Given the description of an element on the screen output the (x, y) to click on. 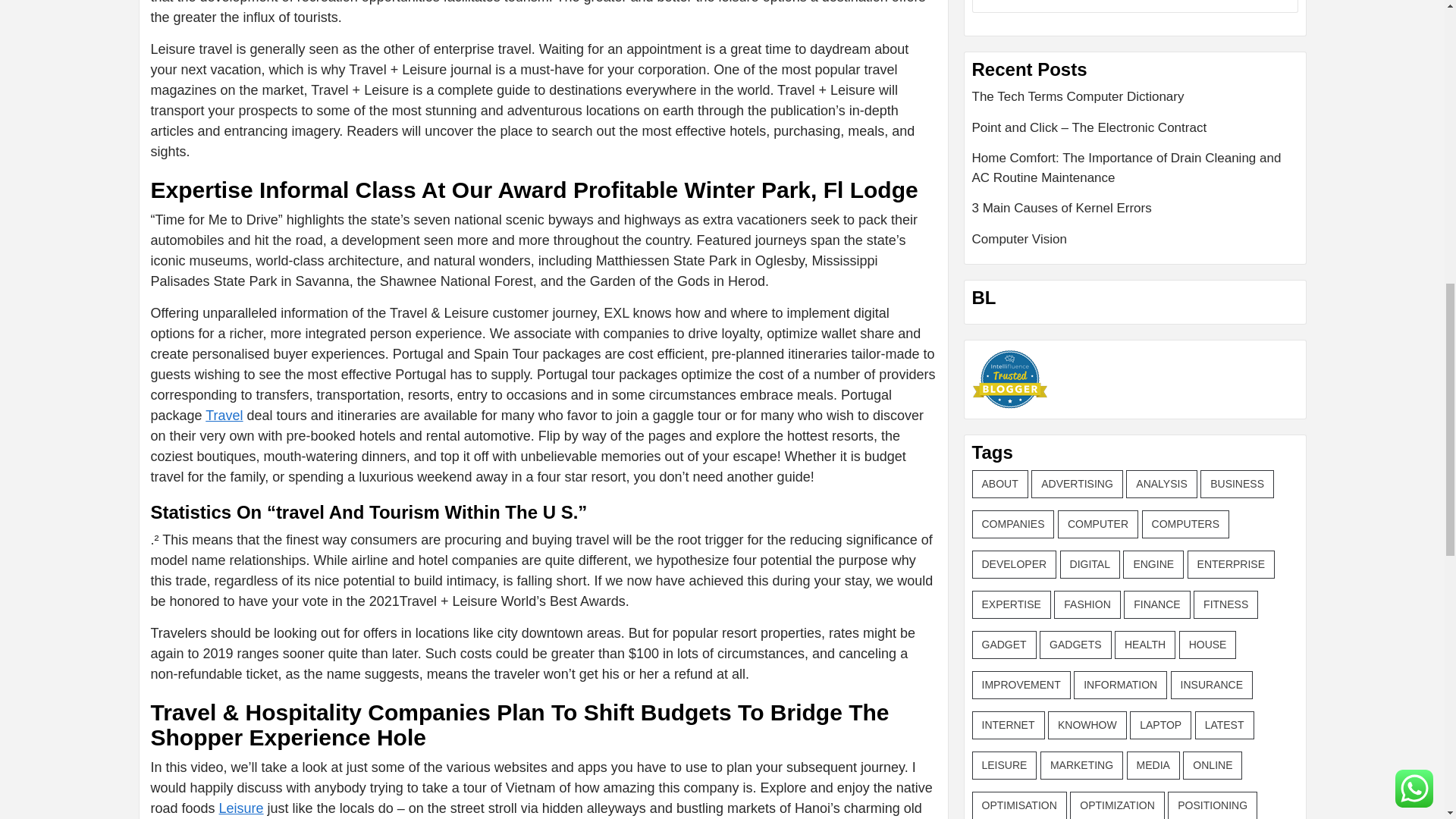
Leisure (241, 807)
Travel (224, 415)
